Given the description of an element on the screen output the (x, y) to click on. 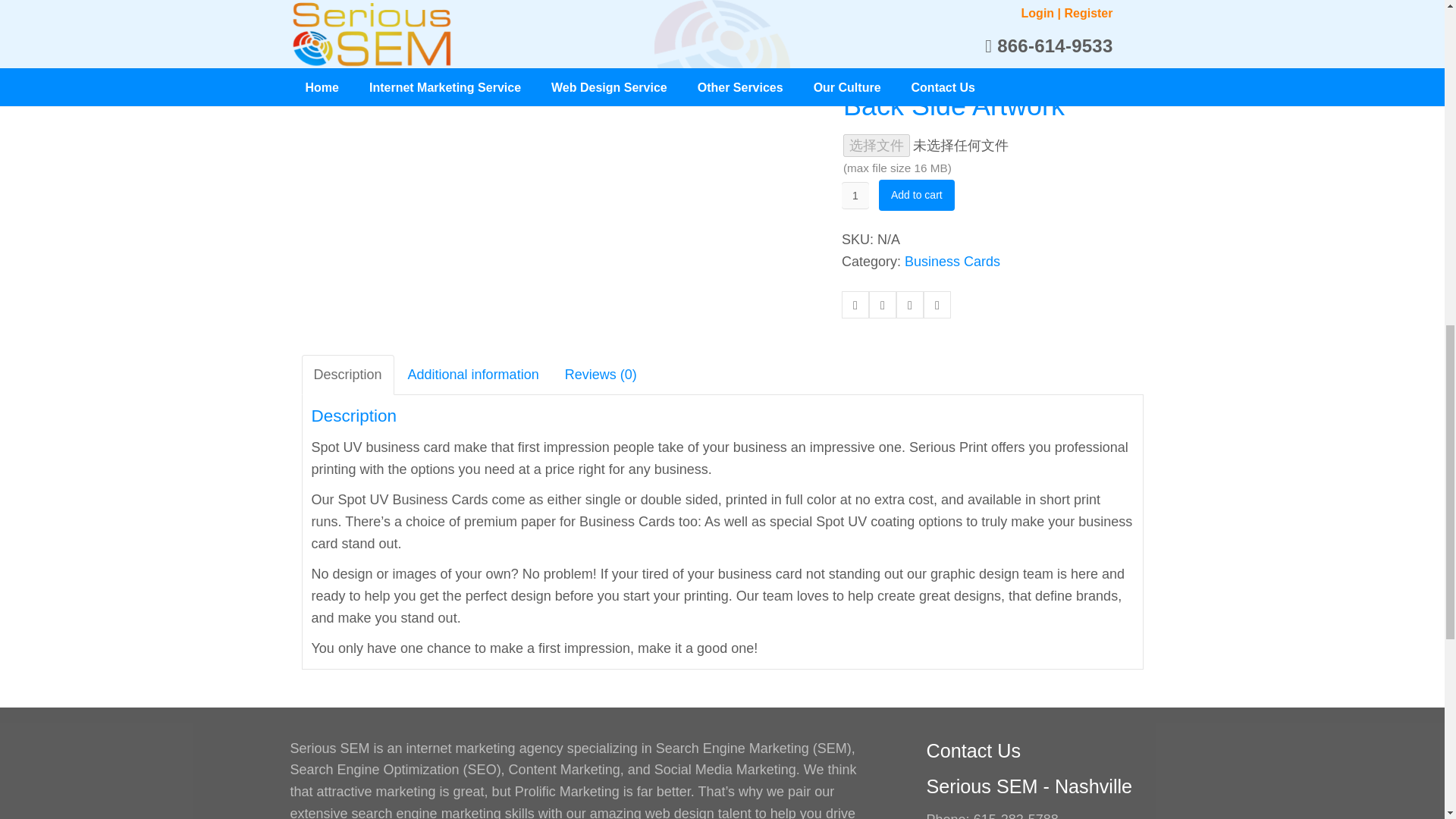
1 (855, 195)
